Given the description of an element on the screen output the (x, y) to click on. 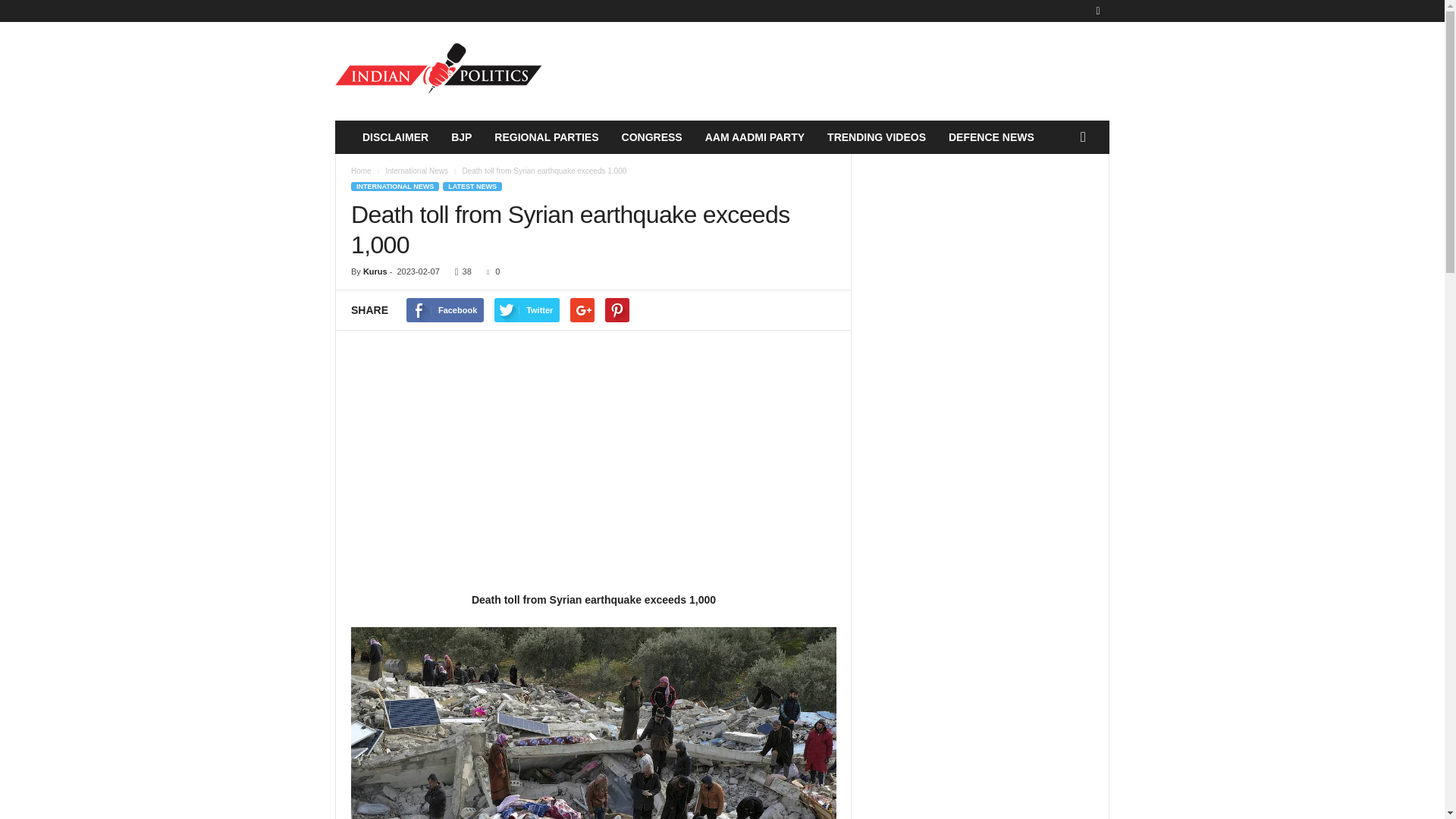
BJP (461, 136)
Logo (437, 70)
Indian Politics (437, 70)
DEFENCE NEWS (991, 136)
Facebook (444, 310)
DISCLAIMER (394, 136)
TRENDING VIDEOS (876, 136)
INTERNATIONAL NEWS (394, 185)
CONGRESS (652, 136)
Home (360, 171)
